Given the description of an element on the screen output the (x, y) to click on. 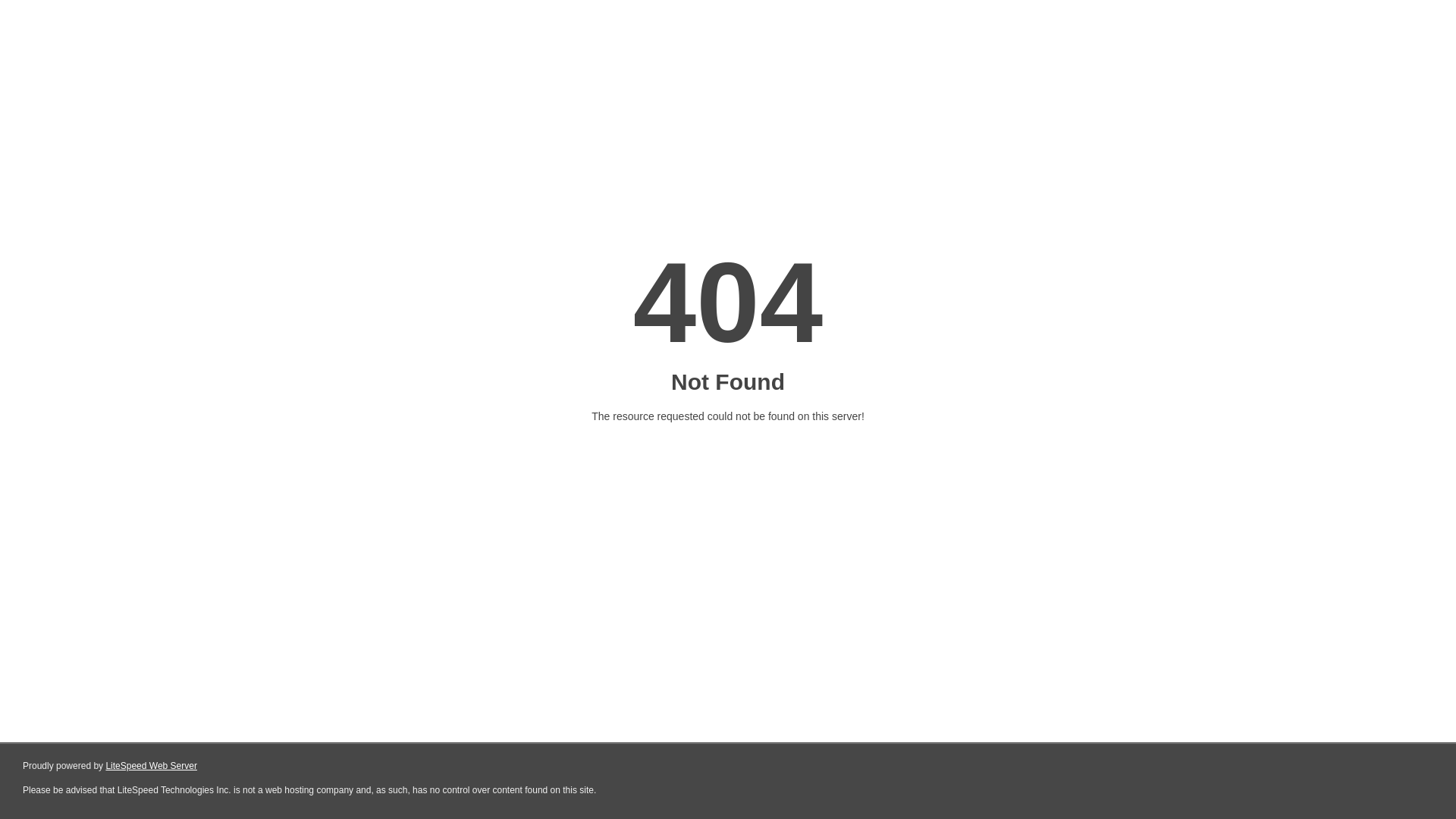
LiteSpeed Web Server (150, 765)
